Given the description of an element on the screen output the (x, y) to click on. 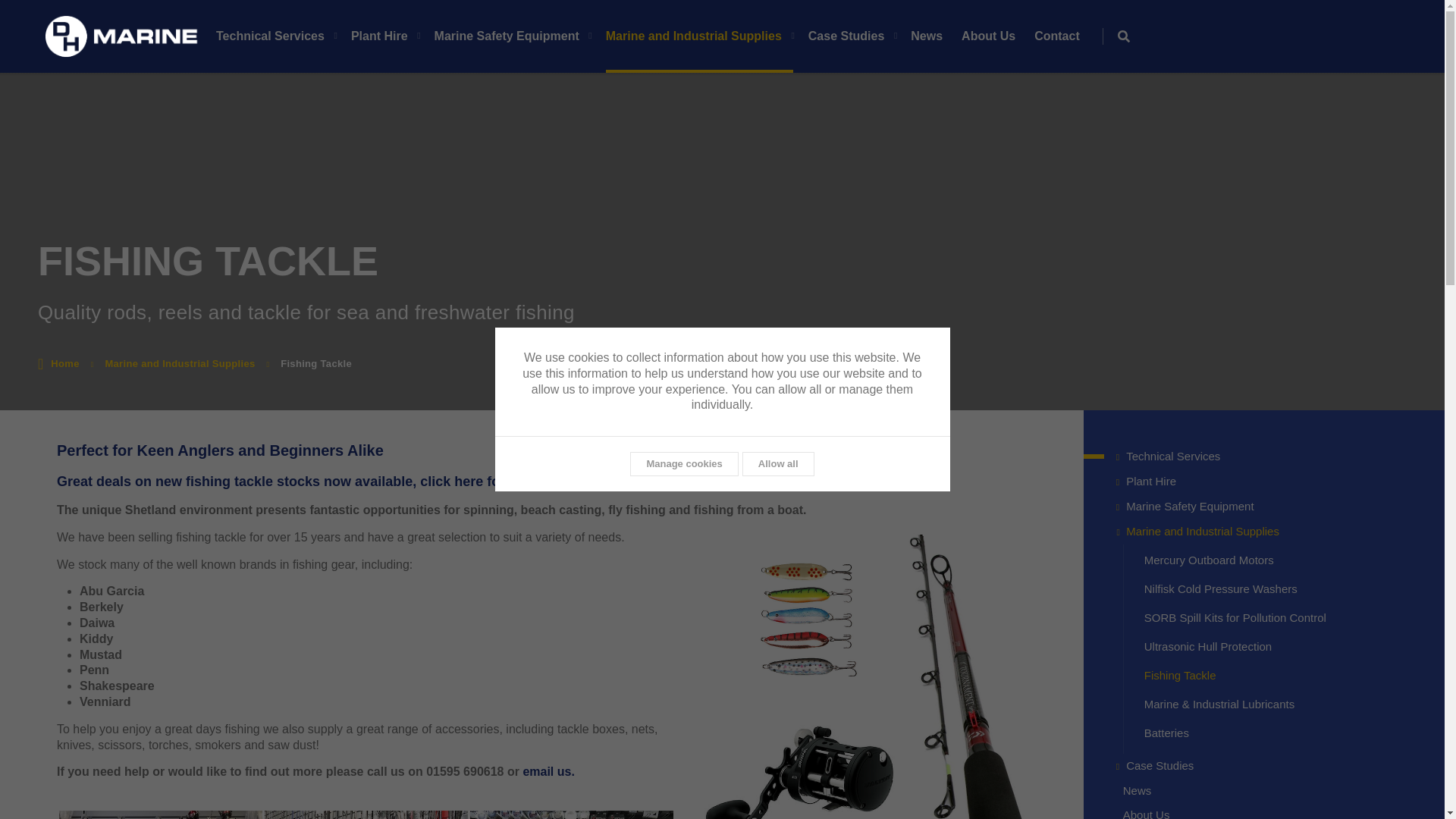
SORB Spill Kits for Pollution Control (1280, 617)
Plant Hire (391, 36)
Technical Services (282, 36)
About Us (1269, 811)
Batteries (1280, 733)
Marine and Industrial Supplies (1269, 531)
Marine Safety Equipment (1269, 506)
Home (64, 363)
Mercury Outboard Motors (1280, 559)
Case Studies (1269, 765)
